Given the description of an element on the screen output the (x, y) to click on. 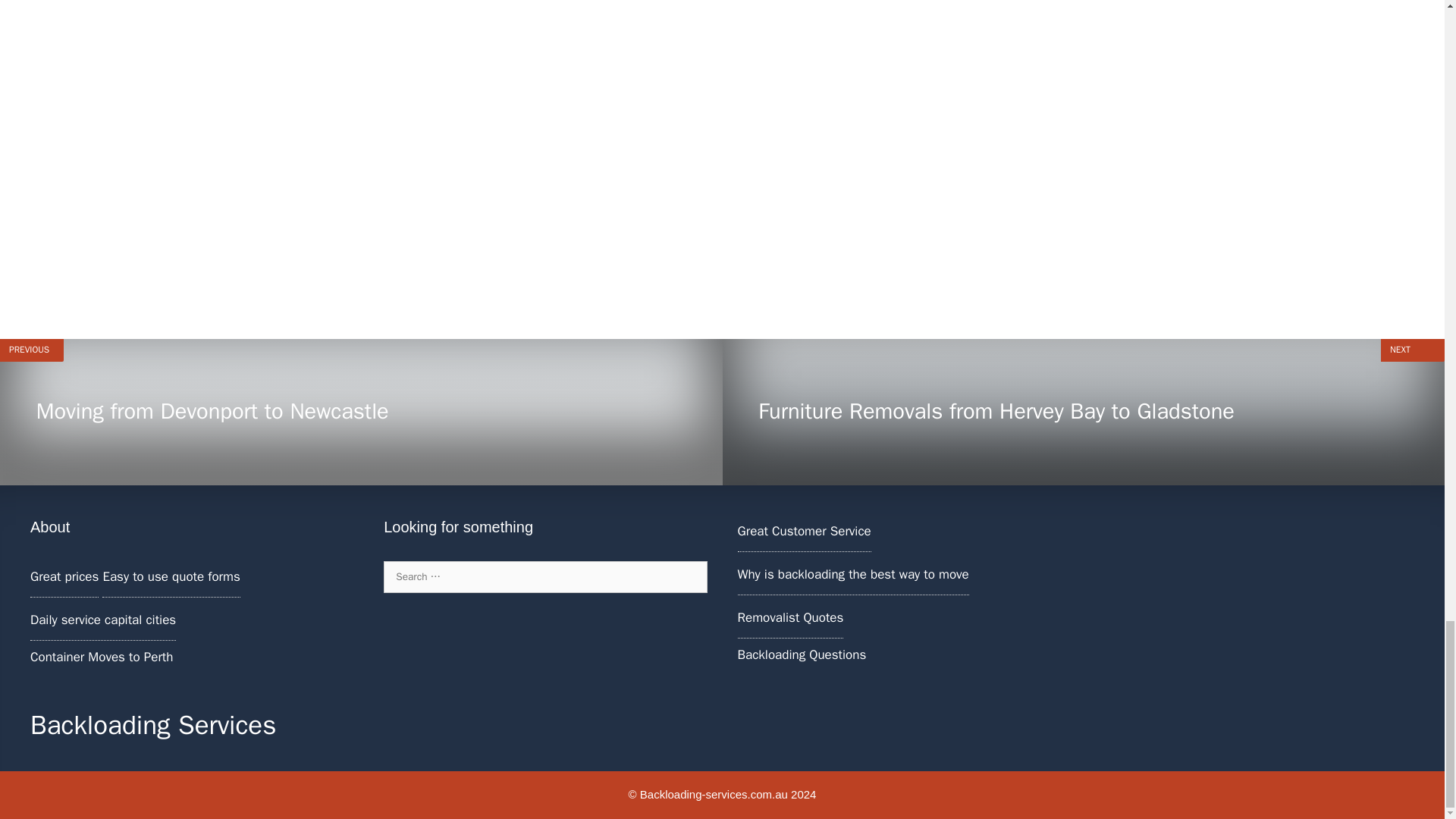
Search for: (545, 576)
Backloading Questions (801, 654)
Removalist Quotes (361, 412)
Why is backloading the best way to move (789, 617)
Great Customer Service (852, 574)
